Given the description of an element on the screen output the (x, y) to click on. 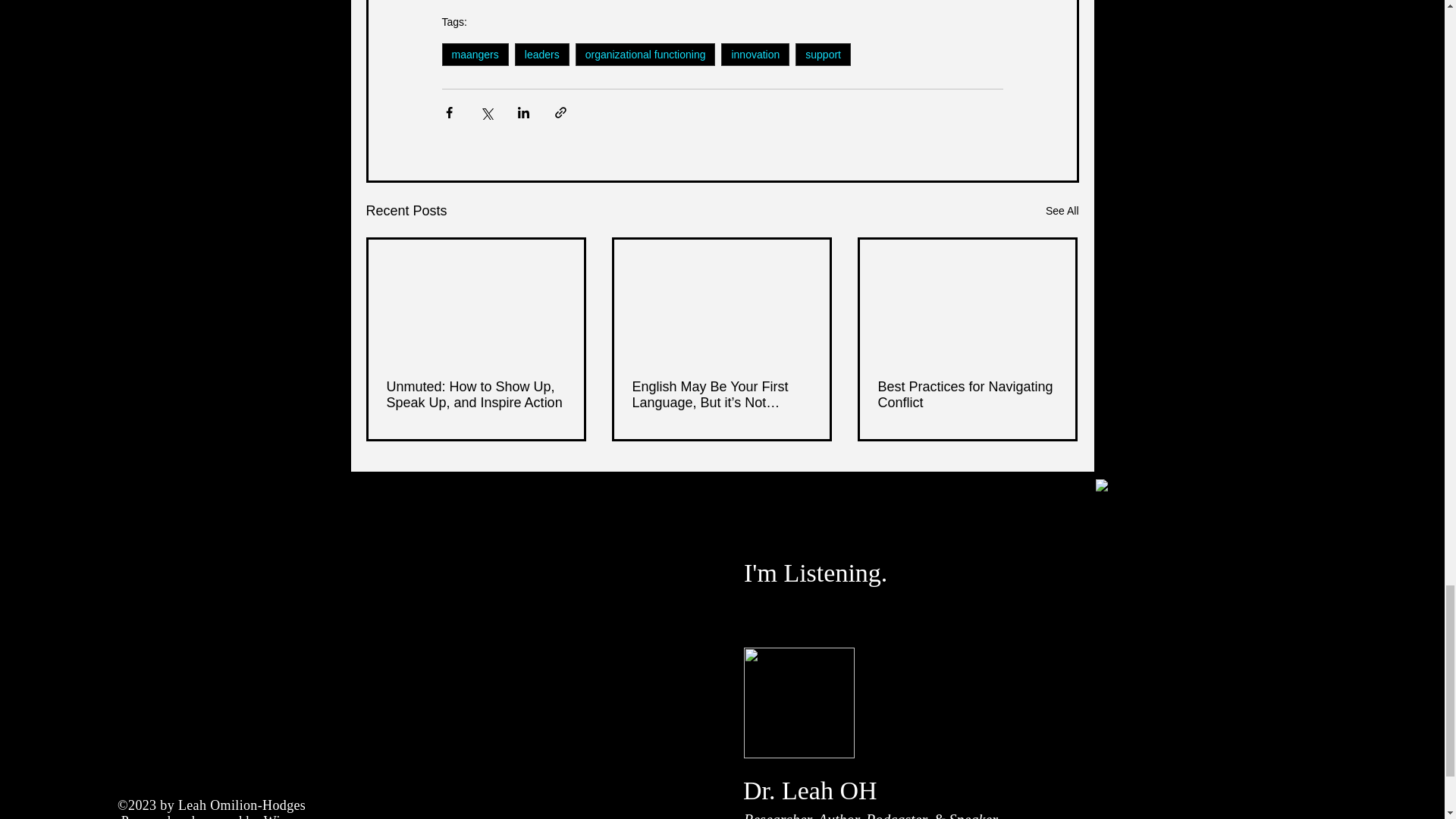
Wix (274, 816)
Speaker (973, 815)
See All (1061, 210)
organizational functioning (645, 54)
Unmuted: How to Show Up, Speak Up, and Inspire Action (476, 395)
support (822, 54)
Best Practices for Navigating Conflict (967, 395)
Researcher,  (781, 815)
innovation (754, 54)
Dr. Leah OH (809, 790)
